Given the description of an element on the screen output the (x, y) to click on. 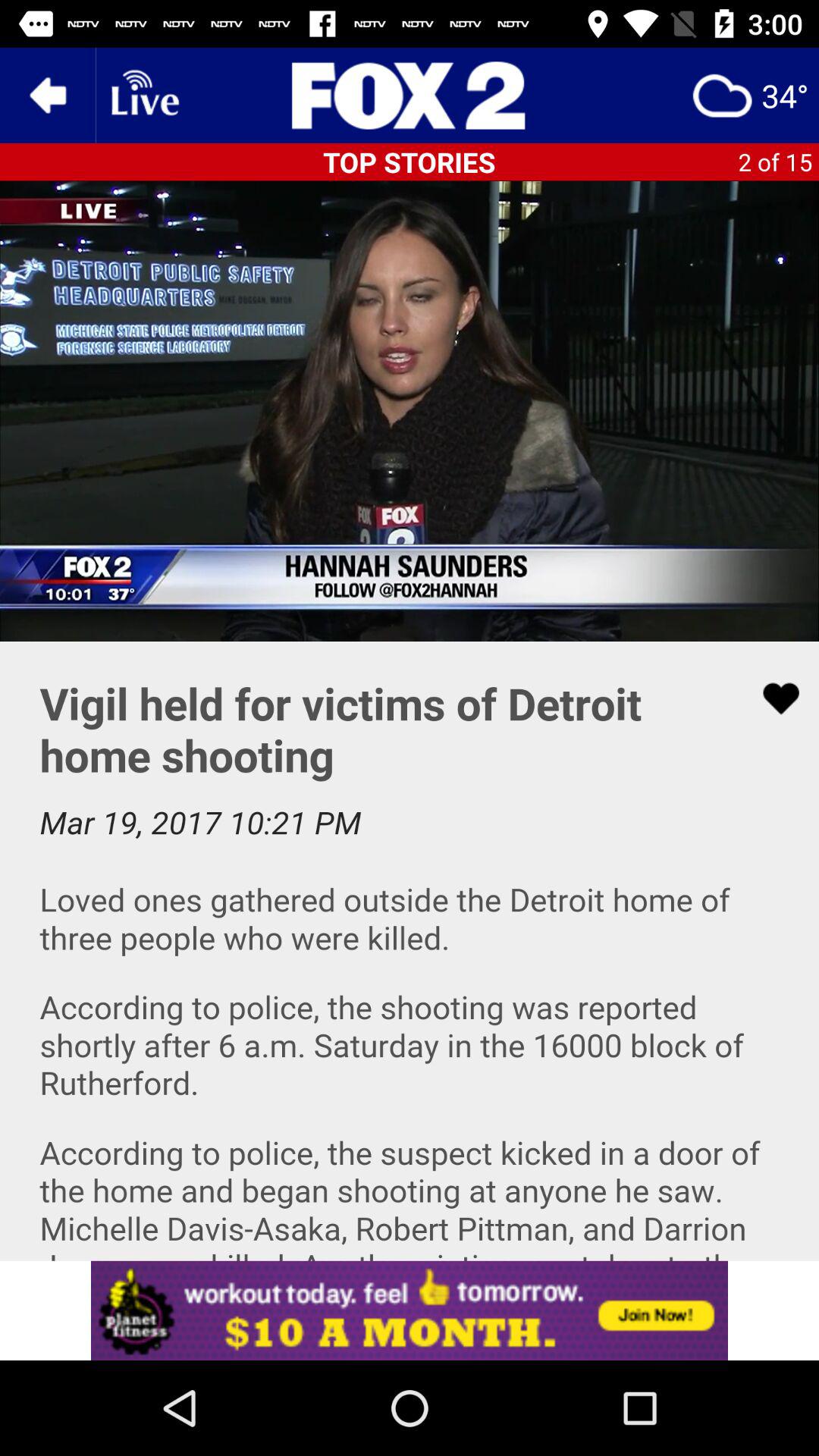
favorite article (771, 698)
